Given the description of an element on the screen output the (x, y) to click on. 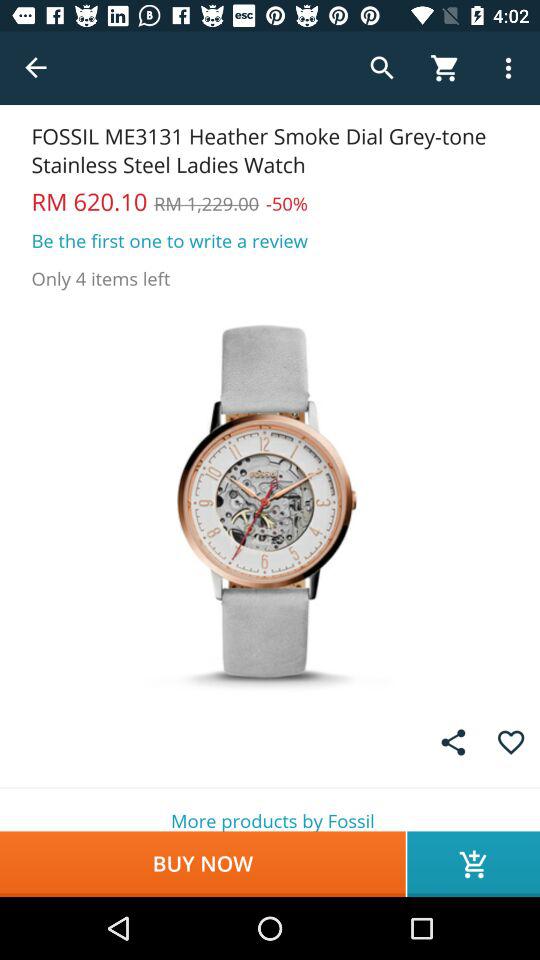
add to favorites (510, 742)
